Given the description of an element on the screen output the (x, y) to click on. 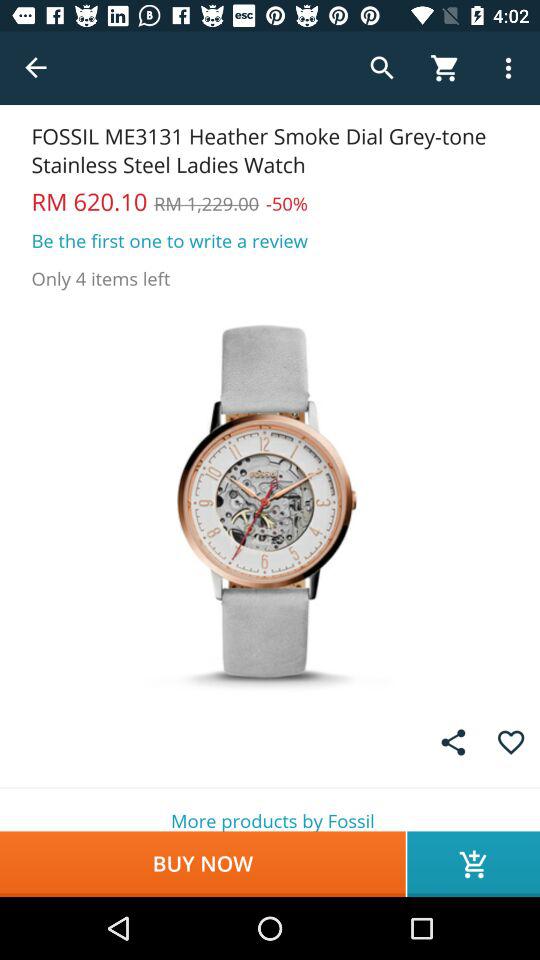
add to favorites (510, 742)
